Given the description of an element on the screen output the (x, y) to click on. 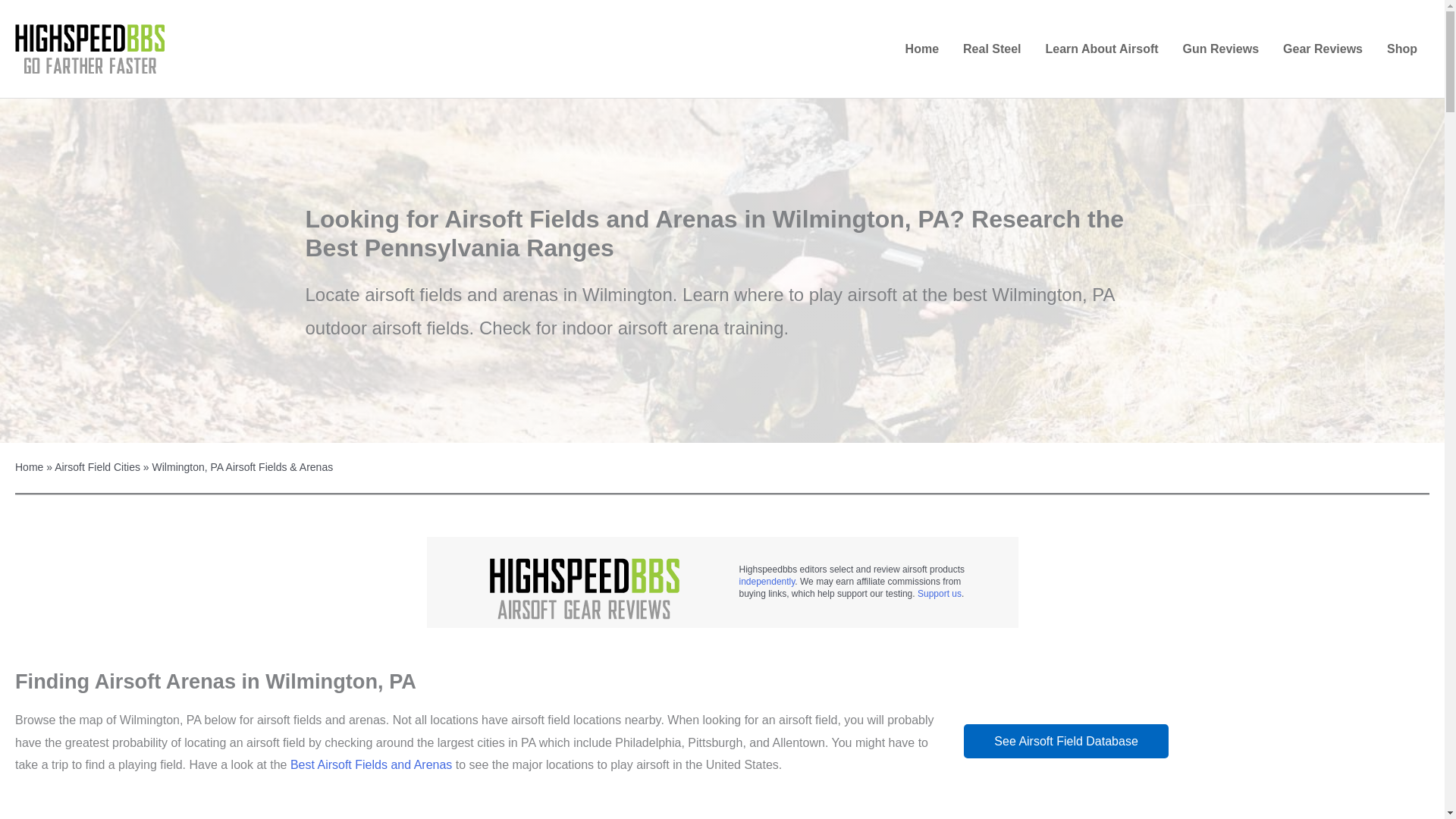
Gun Reviews (1220, 49)
Gear Reviews (1322, 49)
Learn About Airsoft (1101, 49)
Real Steel (991, 49)
Home (921, 49)
